Given the description of an element on the screen output the (x, y) to click on. 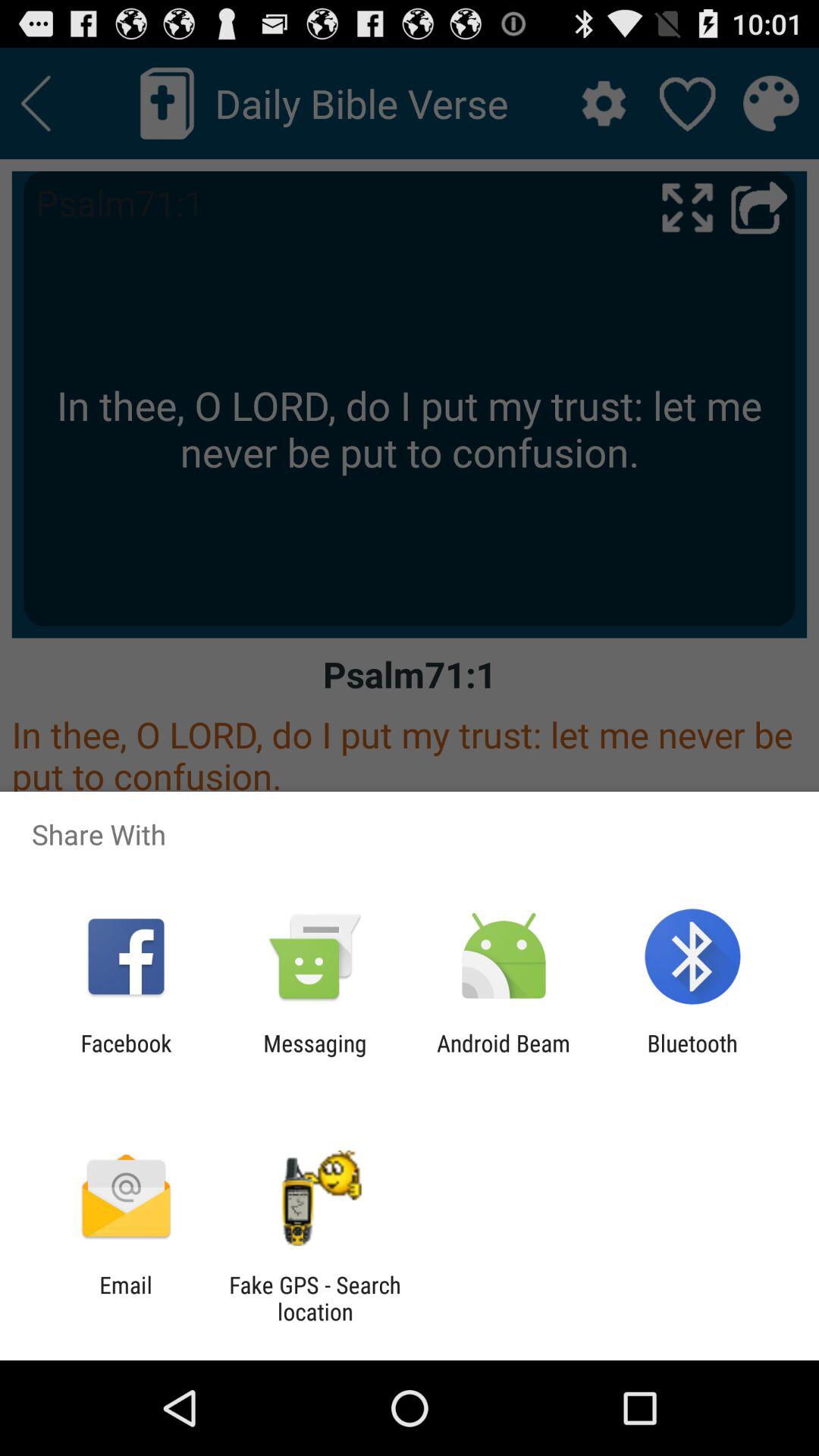
open app to the right of the email icon (314, 1298)
